Given the description of an element on the screen output the (x, y) to click on. 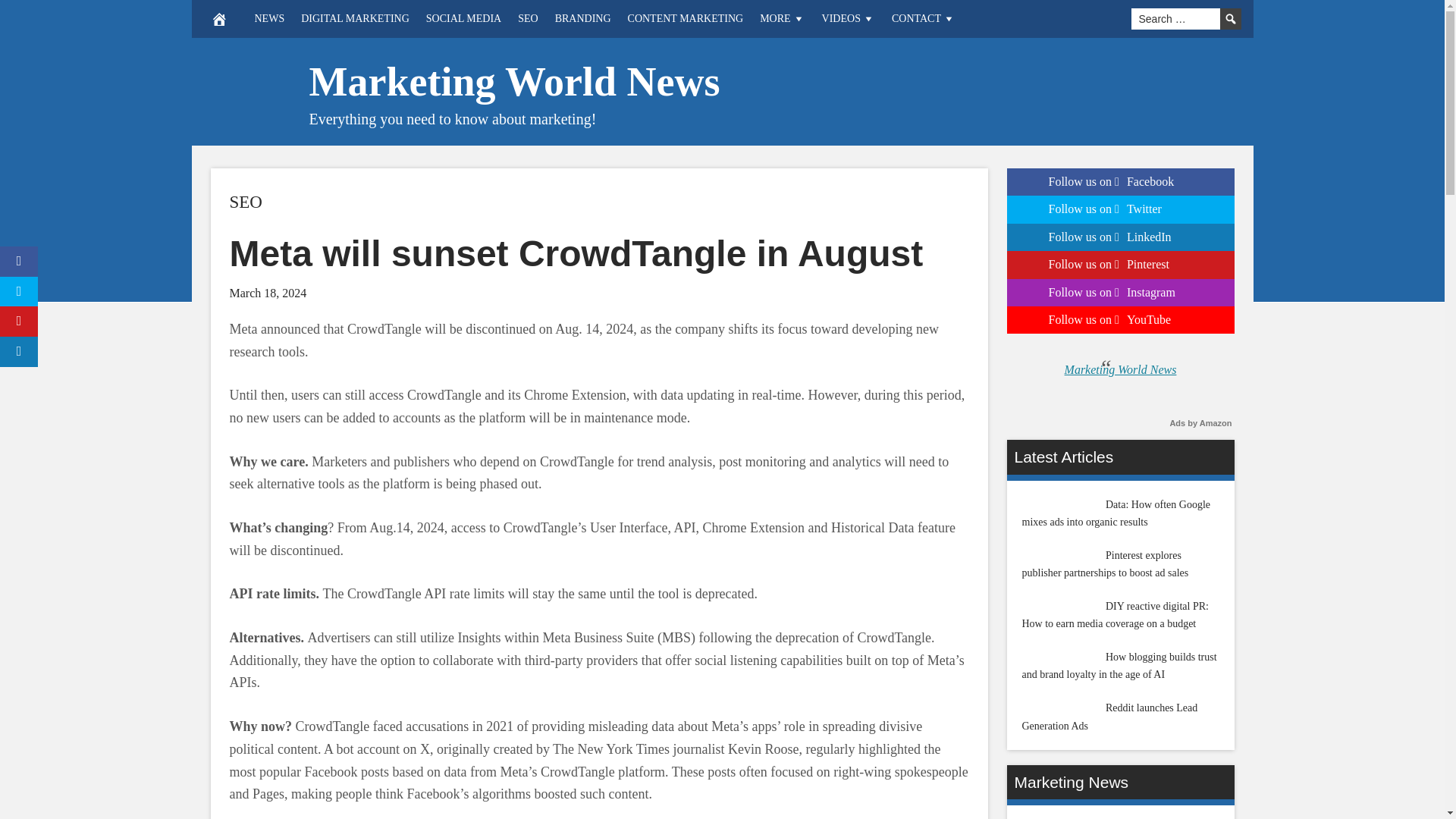
CONTENT MARKETING (686, 18)
SEO (245, 201)
DIGITAL MARKETING (354, 18)
NEWS (269, 18)
VIDEOS (848, 18)
SOCIAL MEDIA (463, 18)
SEO (527, 18)
MORE (781, 18)
BRANDING (583, 18)
